Given the description of an element on the screen output the (x, y) to click on. 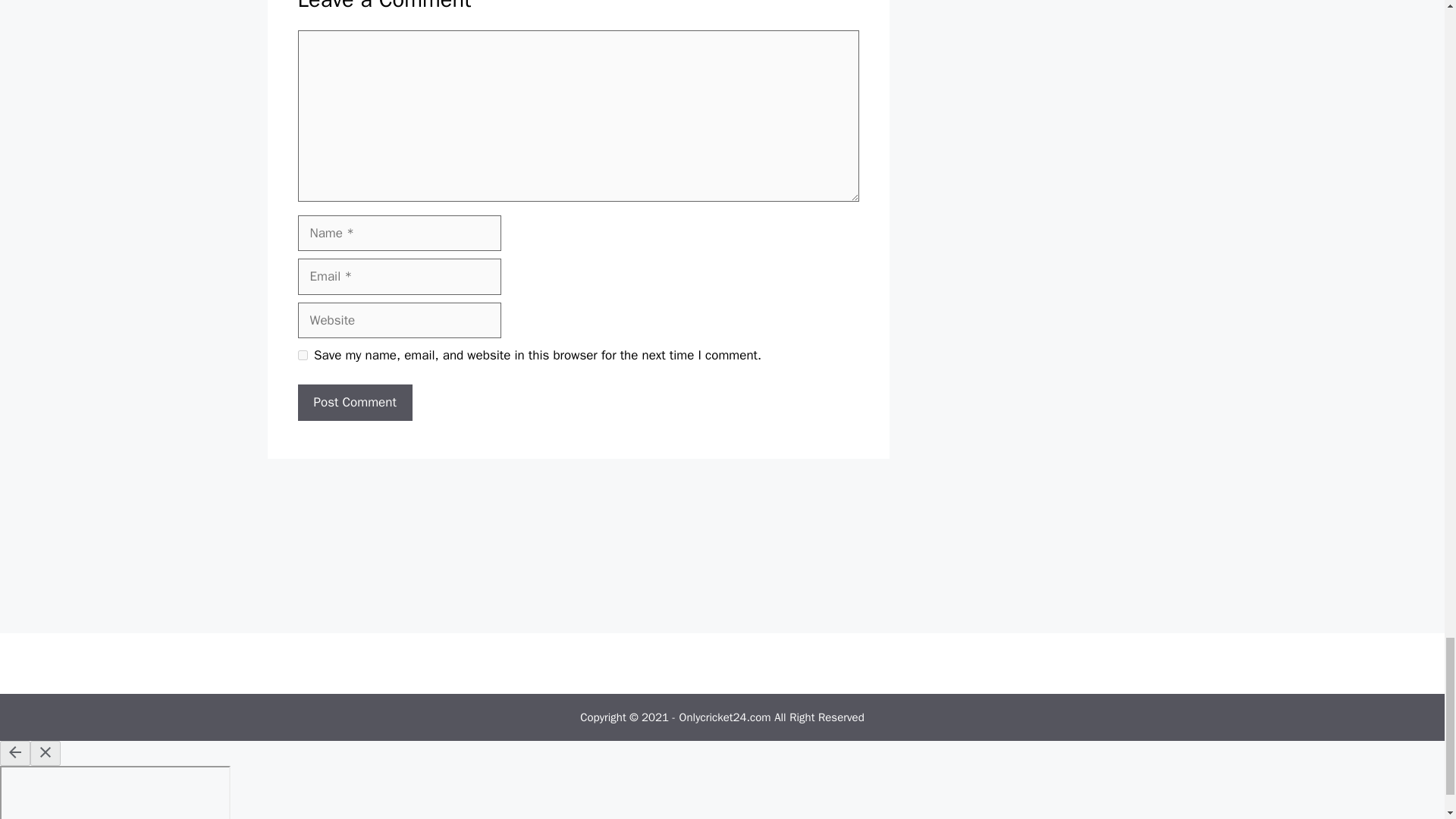
Post Comment (354, 402)
yes (302, 355)
Post Comment (354, 402)
